Given the description of an element on the screen output the (x, y) to click on. 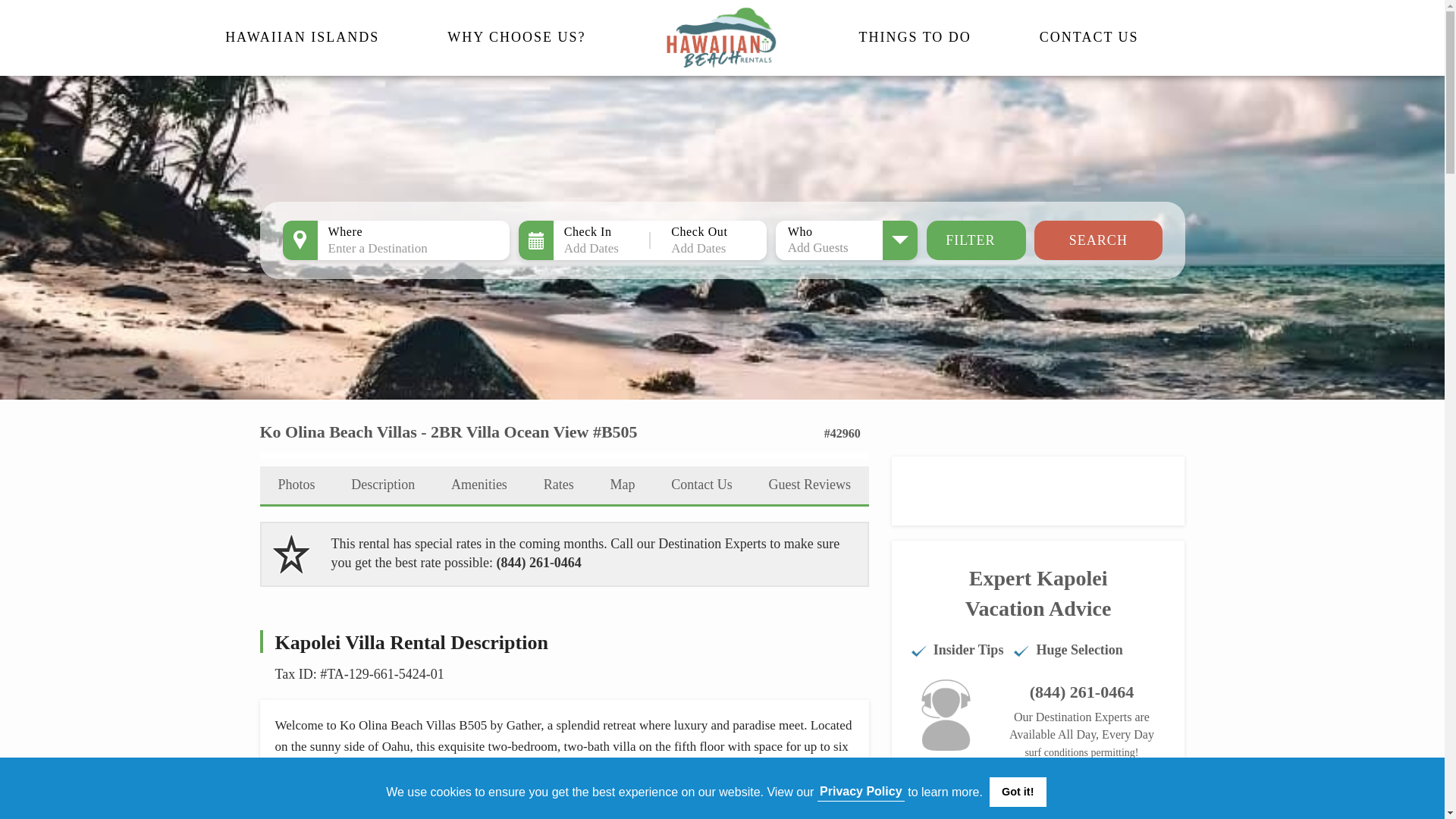
Why Choose Us? (515, 37)
WHY CHOOSE US? (515, 37)
HAWAIIAN ISLANDS (301, 37)
Hawaii Vacation Rentals by Hawaiian Beach Rentals (721, 37)
Privacy Policy (860, 790)
Got it! (1018, 791)
Contact Us (1088, 37)
THINGS TO DO (915, 37)
Hawaiian Islands (301, 37)
CONTACT US (1088, 37)
Hawaii Things To Do (915, 37)
